Given the description of an element on the screen output the (x, y) to click on. 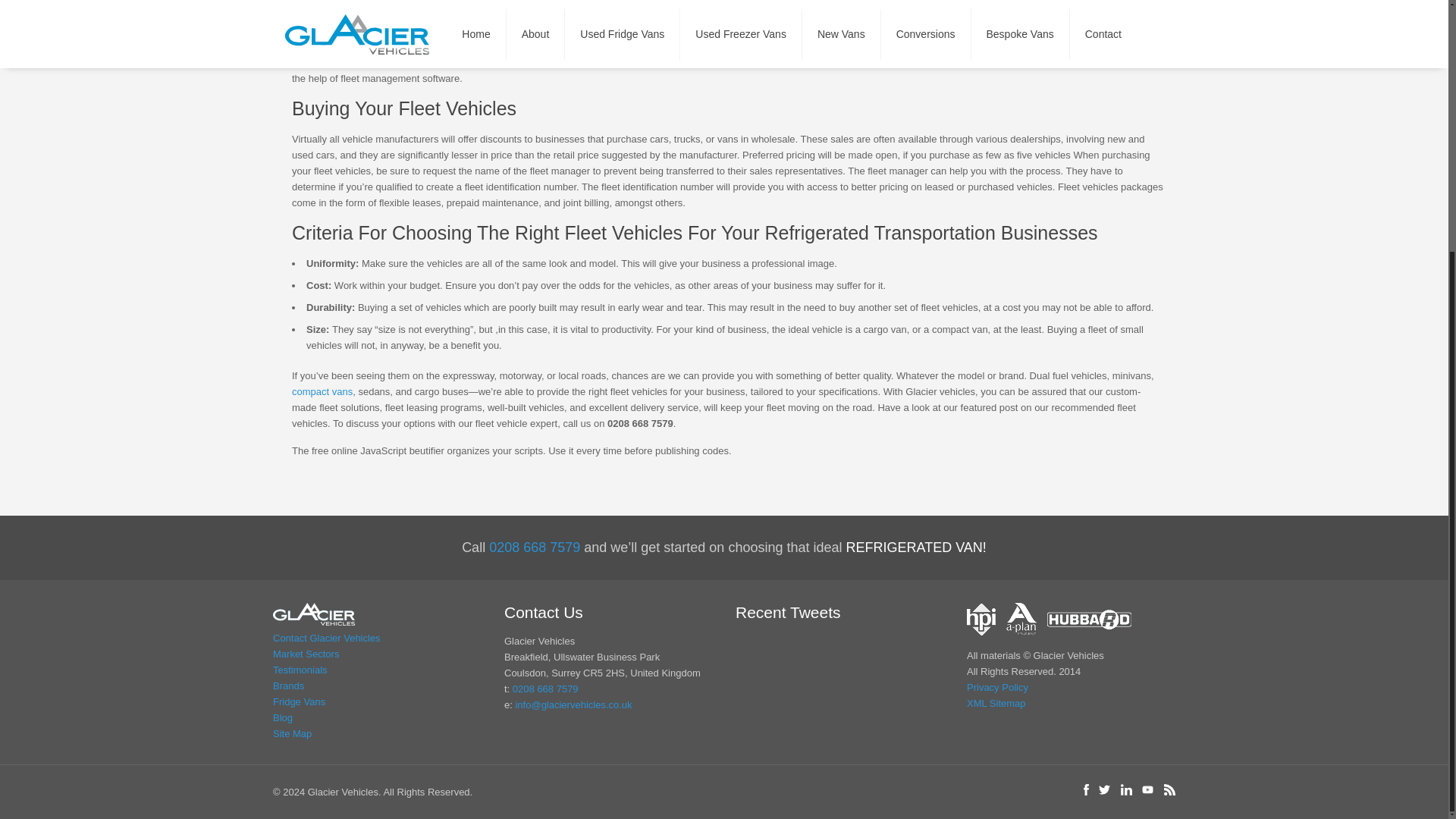
Contact Glacier Vehicles (377, 637)
Fridge Vans (377, 701)
Testimonials (377, 669)
Brands (377, 685)
Market Sectors (377, 653)
compact vans (322, 391)
Blog (377, 717)
Site Map (377, 733)
0208 668 7579 (545, 688)
